Given the description of an element on the screen output the (x, y) to click on. 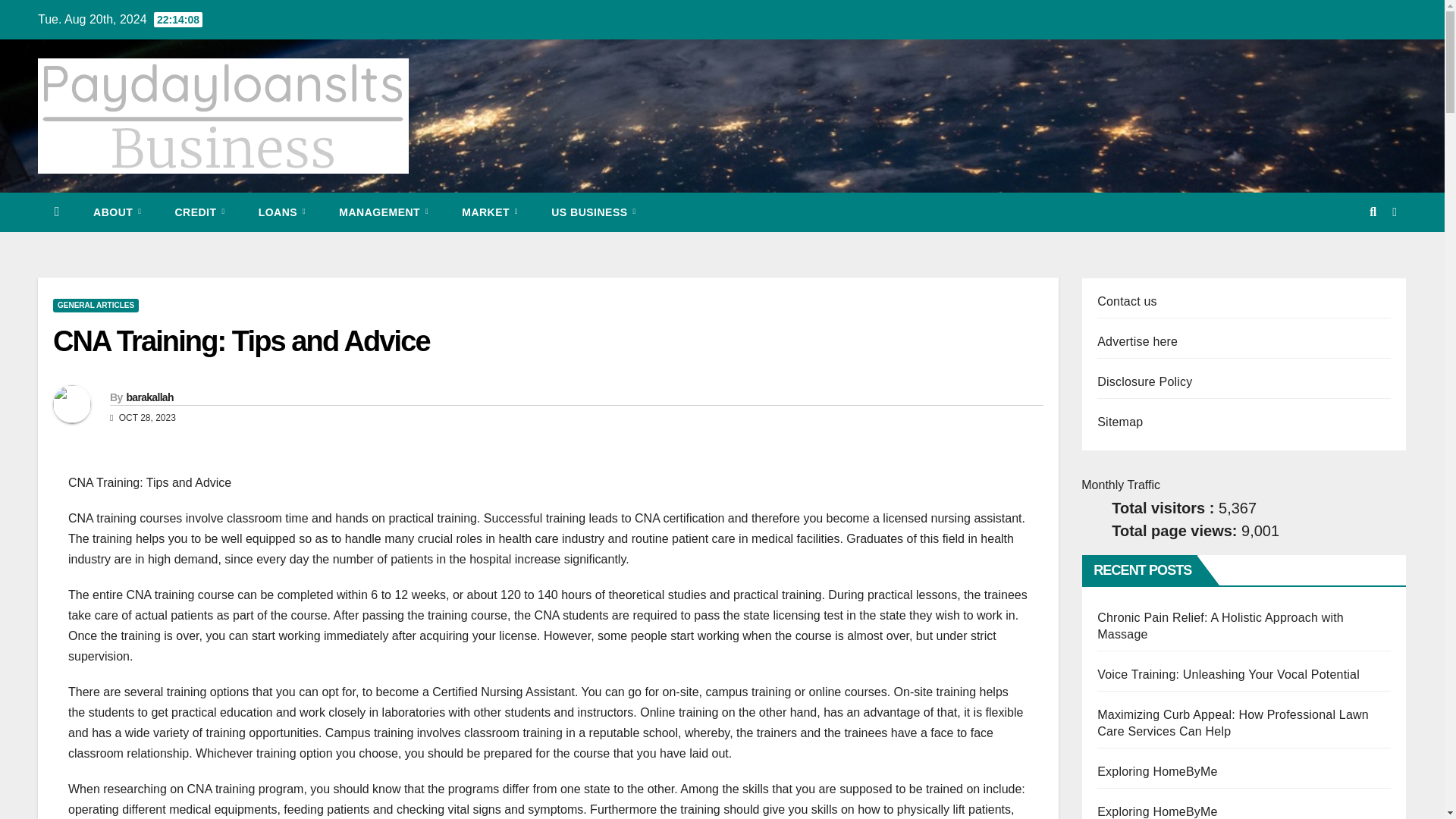
Credit (199, 211)
Loans (282, 211)
About (117, 211)
ABOUT (117, 211)
LOANS (282, 211)
MANAGEMENT (383, 211)
MARKET (489, 211)
Management (383, 211)
US BUSINESS (593, 211)
CREDIT (199, 211)
